Given the description of an element on the screen output the (x, y) to click on. 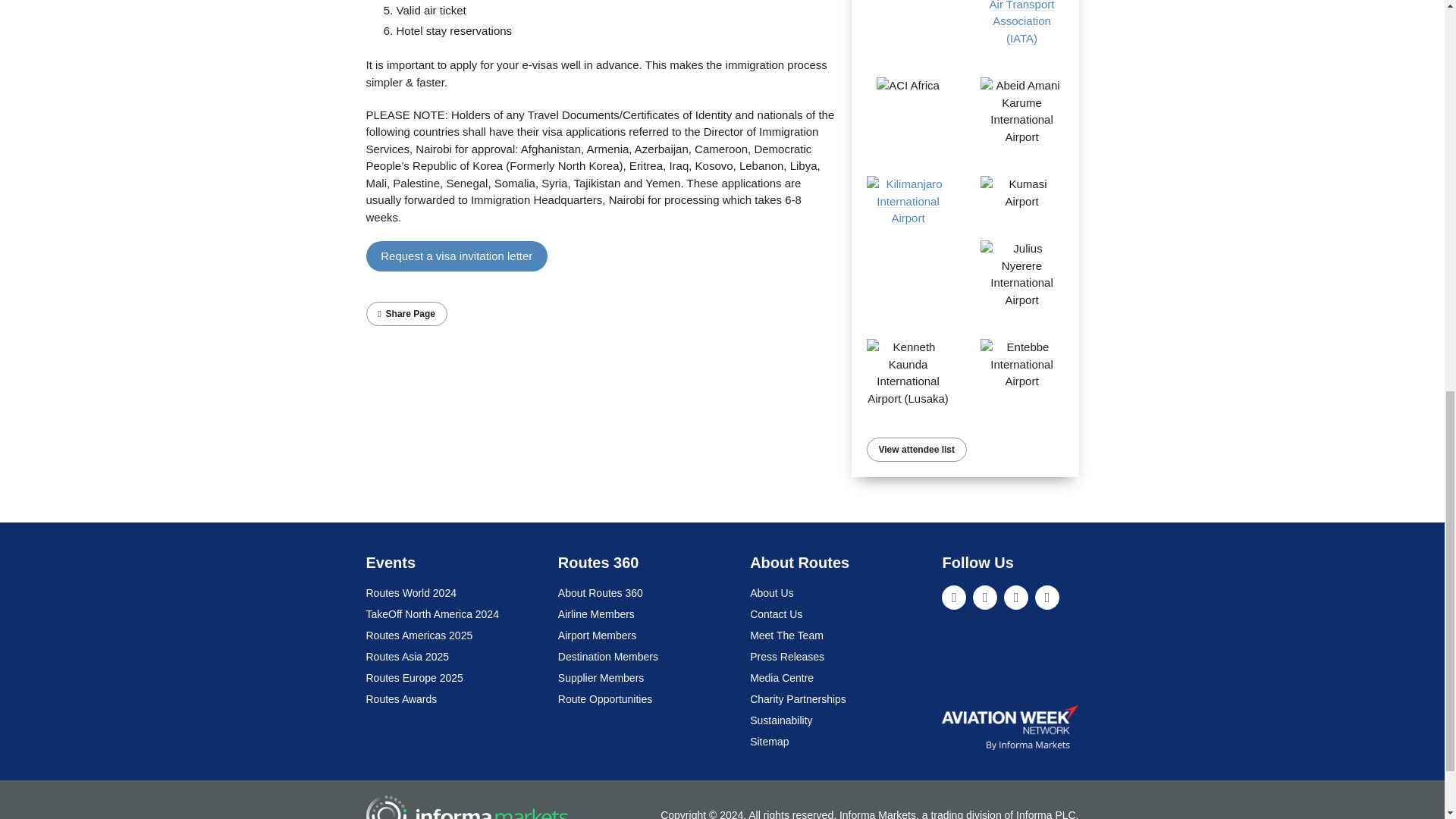
Facebook (1015, 597)
LinkedIn (954, 597)
YouTube (1047, 597)
